Given the description of an element on the screen output the (x, y) to click on. 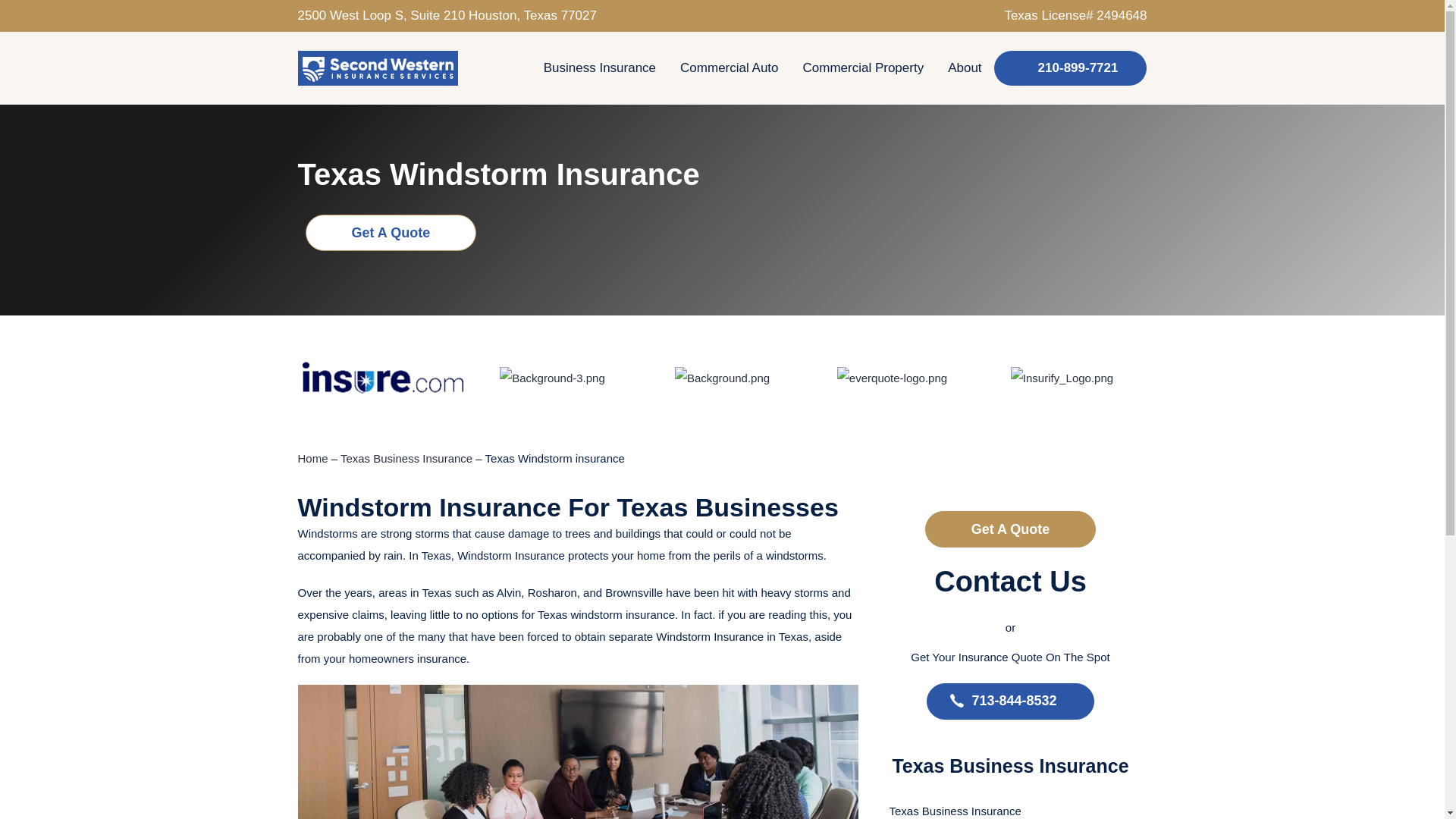
Business Insurance (599, 67)
Commercial Property (863, 67)
About (964, 67)
210-899-7721 (1070, 67)
Commercial Auto (729, 67)
